Given the description of an element on the screen output the (x, y) to click on. 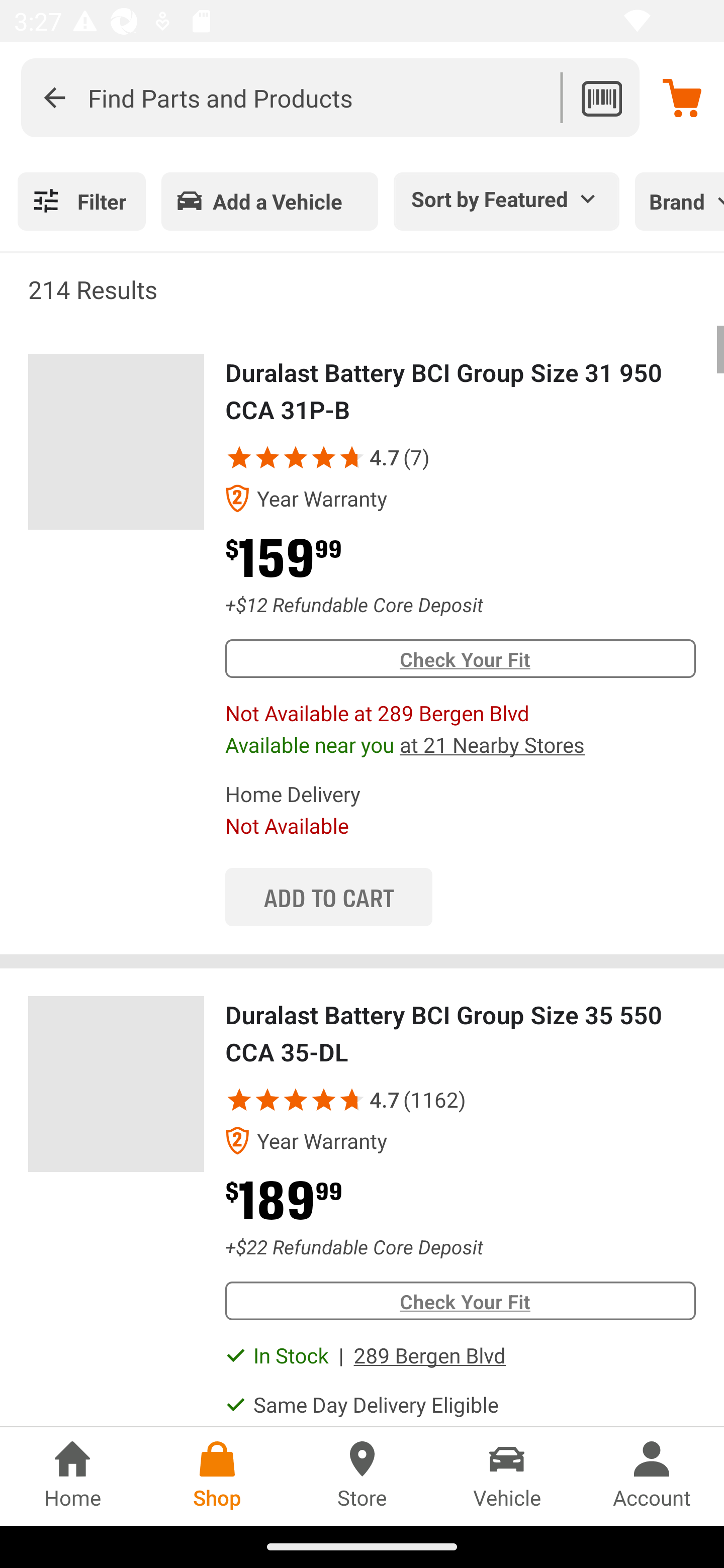
 scan-product-to-search  (601, 97)
 (54, 97)
Cart, no items  (681, 97)
Filter (81, 201)
 Add a Vehicle (269, 201)
Brand  (679, 201)
collapsed Sort by Featured  (506, 198)
Duralast Battery BCI Group Size 31 950 CCA 31P-B (116, 441)
 (239, 457)
 (267, 457)
 (295, 457)
 (323, 457)
 (347, 457)
Check your fit Check Your Fit (460, 658)
Add to cart ADD TO CART (328, 897)
Duralast Battery BCI Group Size 35 550 CCA 35-DL (116, 1083)
 (239, 1099)
 (267, 1099)
 (295, 1099)
 (323, 1099)
 (347, 1099)
Check your fit Check Your Fit (460, 1300)
In Stock  |  289 Bergen Blvd (379, 1354)
Home (72, 1475)
Shop (216, 1475)
Store (361, 1475)
Vehicle (506, 1475)
Account (651, 1475)
